Given the description of an element on the screen output the (x, y) to click on. 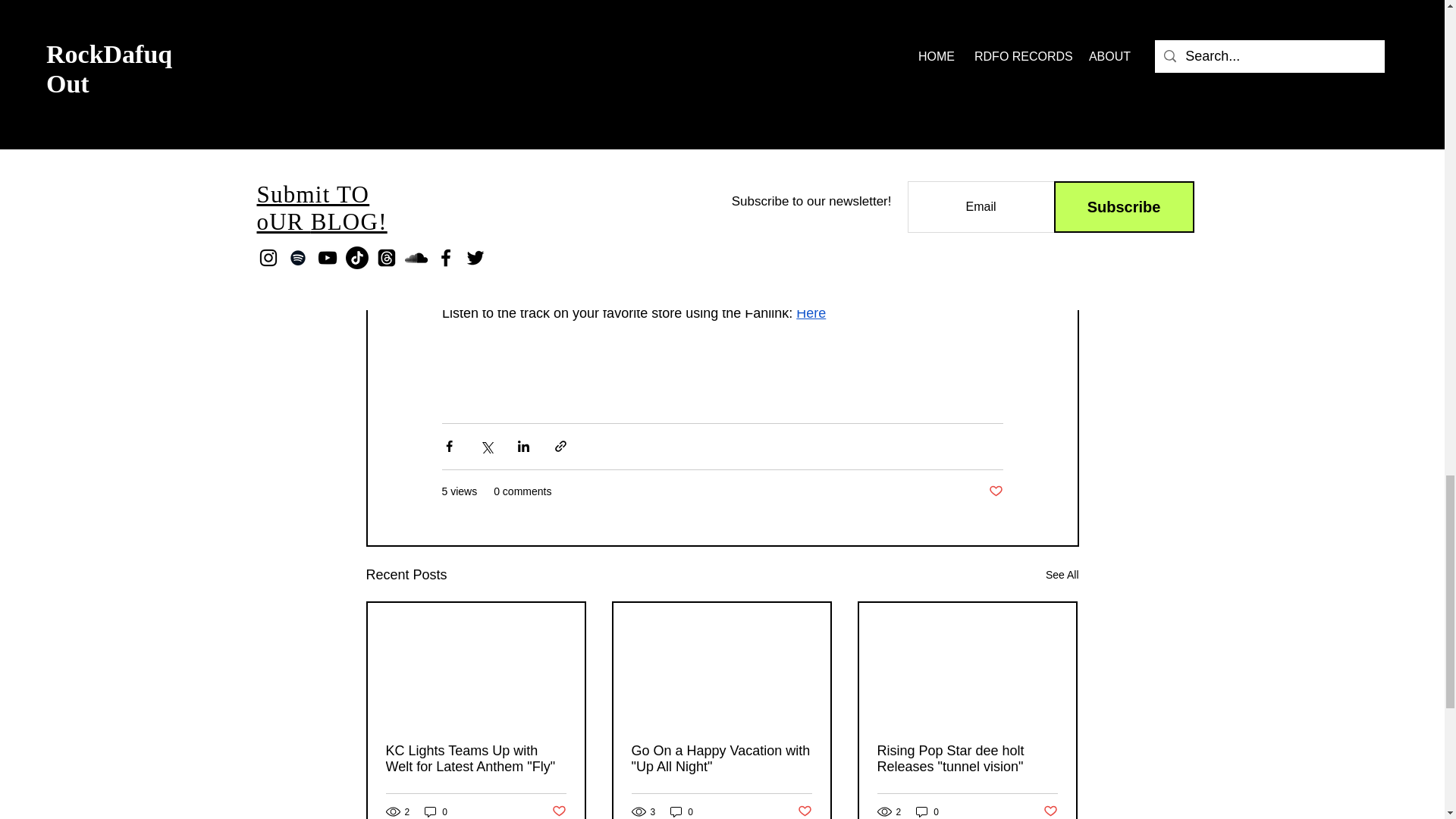
KC Lights Teams Up with Welt for Latest Anthem "Fly" (475, 758)
Post not marked as liked (558, 811)
0 (927, 811)
Post not marked as liked (995, 491)
Post not marked as liked (804, 811)
See All (1061, 575)
Here (810, 313)
0 (681, 811)
0 (435, 811)
Post not marked as liked (1050, 811)
Go On a Happy Vacation with "Up All Night" (720, 758)
Rising Pop Star dee holt Releases "tunnel vision" (966, 758)
